Given the description of an element on the screen output the (x, y) to click on. 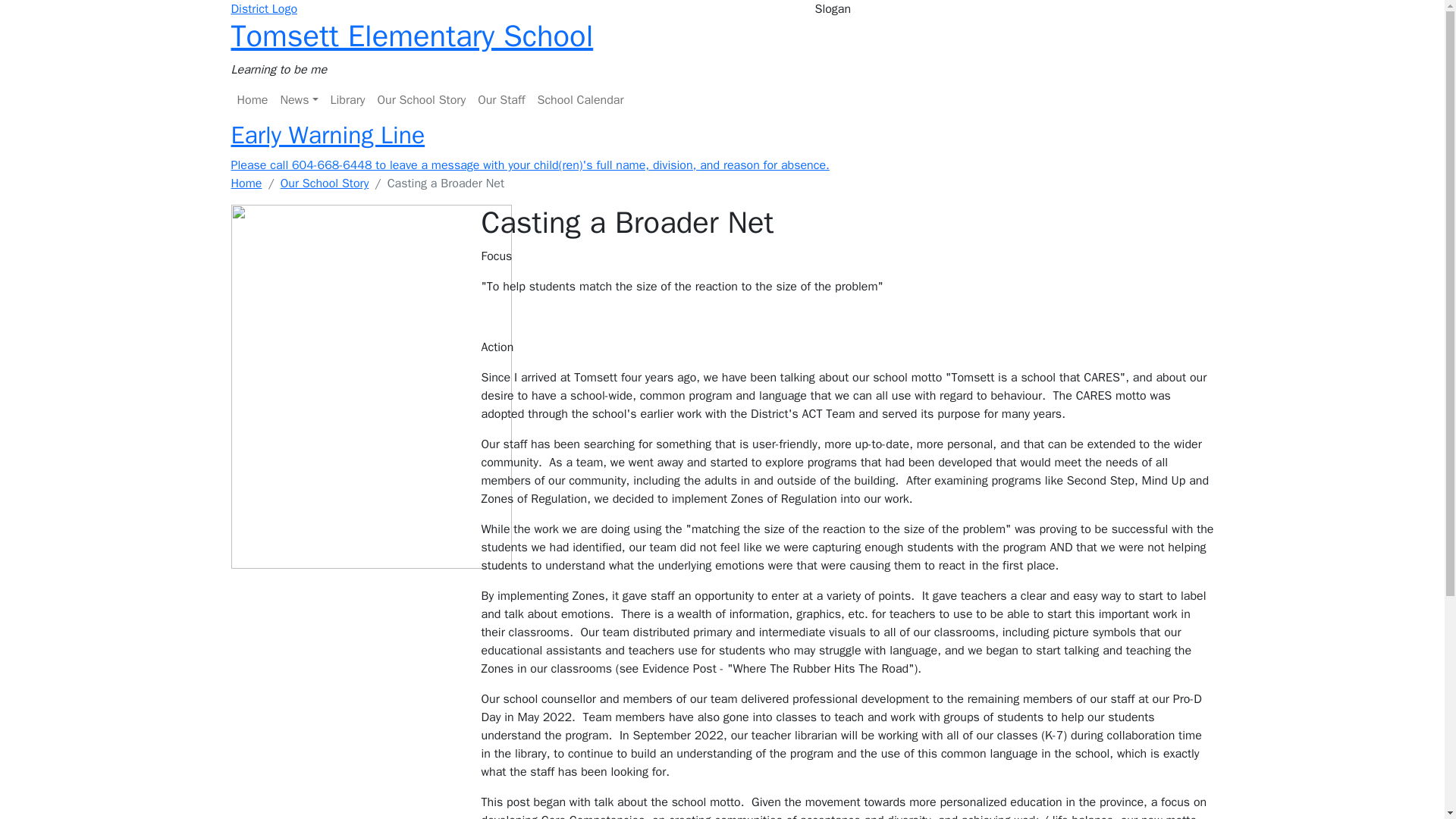
Our Staff (501, 100)
Tomsett Elementary School (411, 47)
5374ff14470a911023d5c1b721121f6a.jpg (370, 385)
Home (246, 183)
Tomsett Elementary School (411, 47)
Our School Story (421, 100)
School Calendar (579, 100)
News (298, 100)
Library (347, 100)
Our School Story (325, 183)
